Given the description of an element on the screen output the (x, y) to click on. 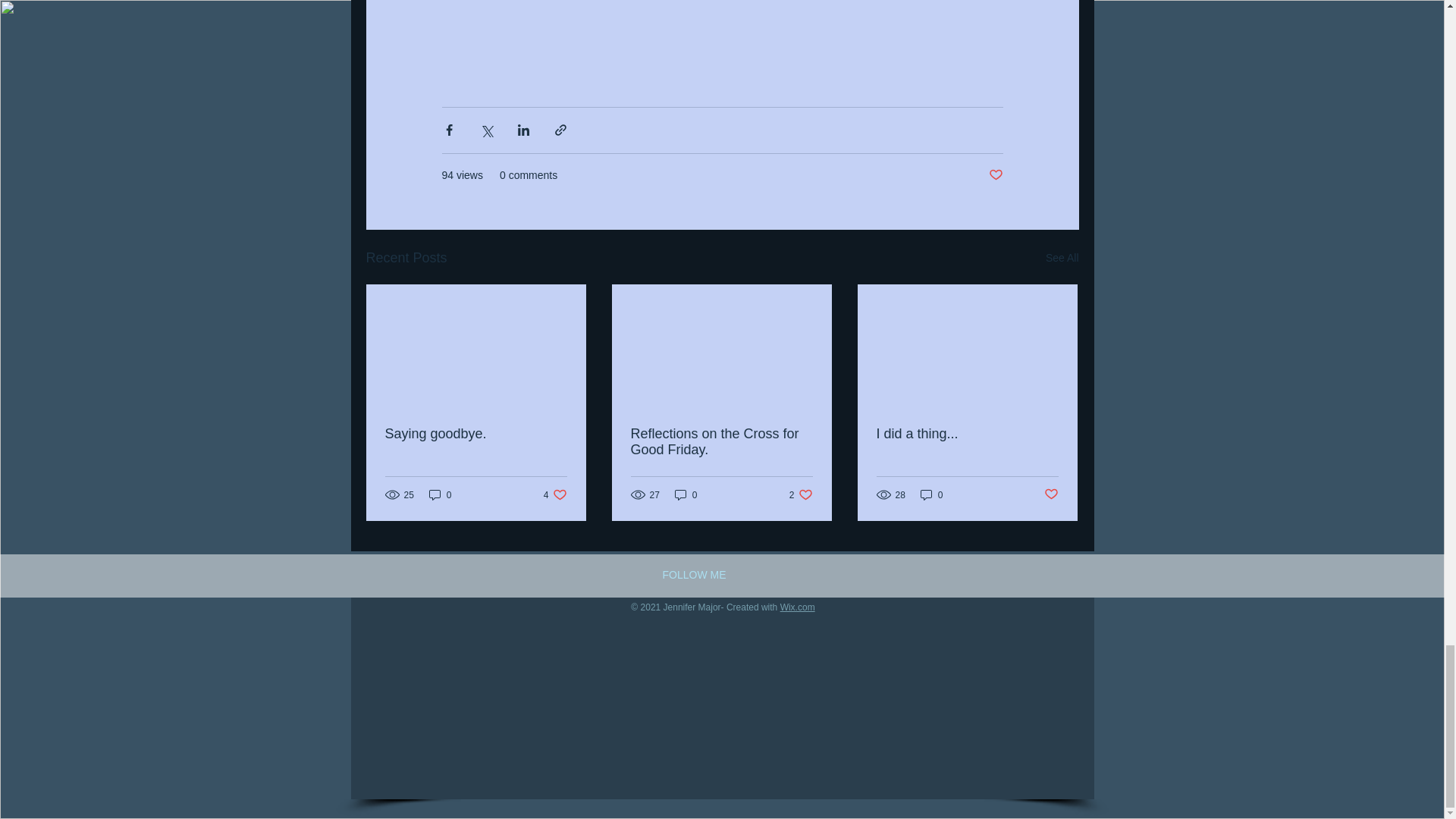
Wix.com (797, 606)
0 (931, 494)
I did a thing... (555, 494)
See All (967, 433)
Saying goodbye. (800, 494)
0 (1061, 258)
Post not marked as liked (476, 433)
0 (440, 494)
